Given the description of an element on the screen output the (x, y) to click on. 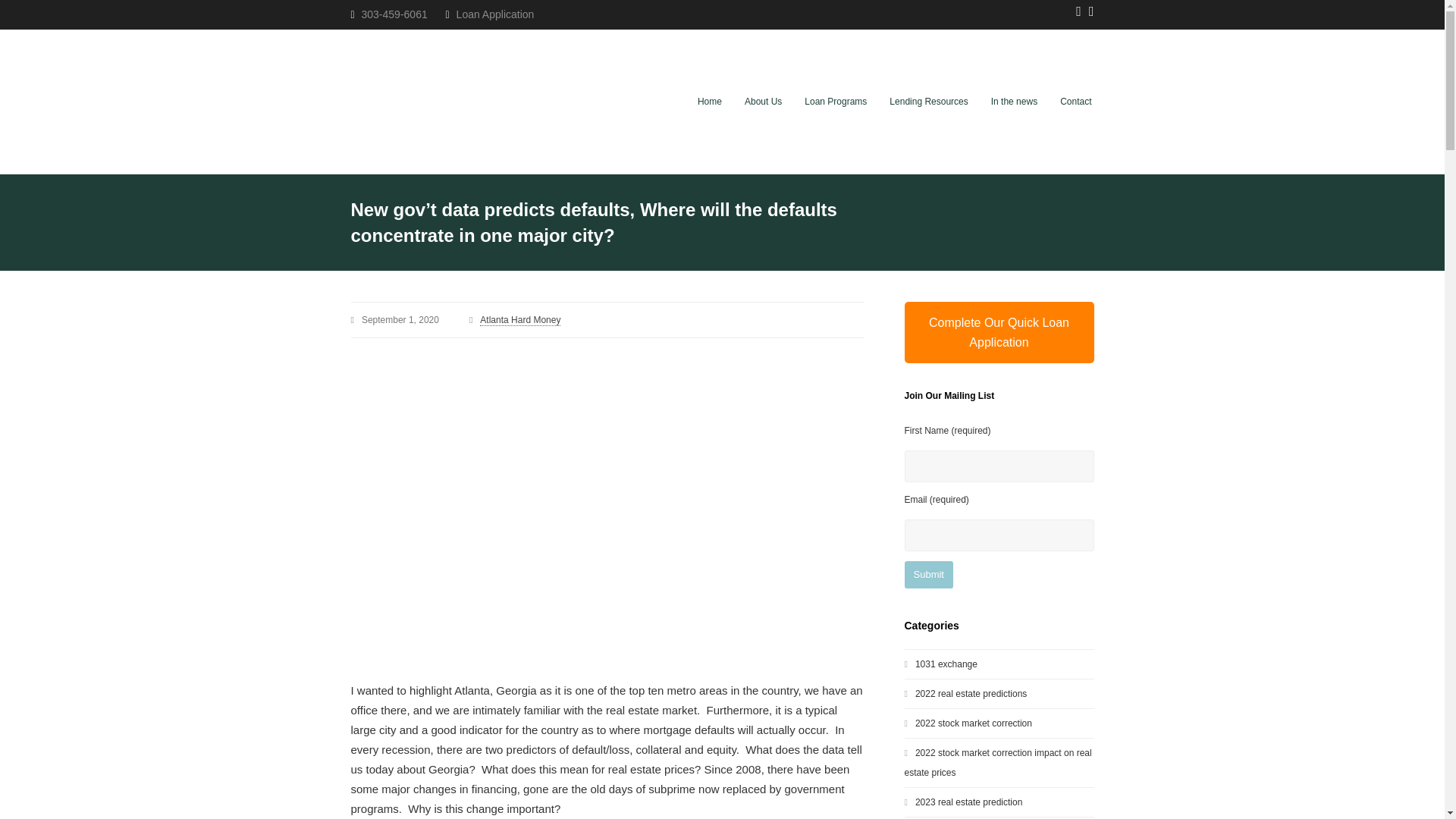
Atlanta Hard Money (520, 319)
Contact (1075, 101)
In the news (1013, 101)
About Us (763, 101)
Loan Programs (835, 101)
Loan Application (495, 14)
Lending Resources (927, 101)
Contact Fairview Commercial Lending (1075, 101)
Home (709, 101)
Submit (928, 574)
